Given the description of an element on the screen output the (x, y) to click on. 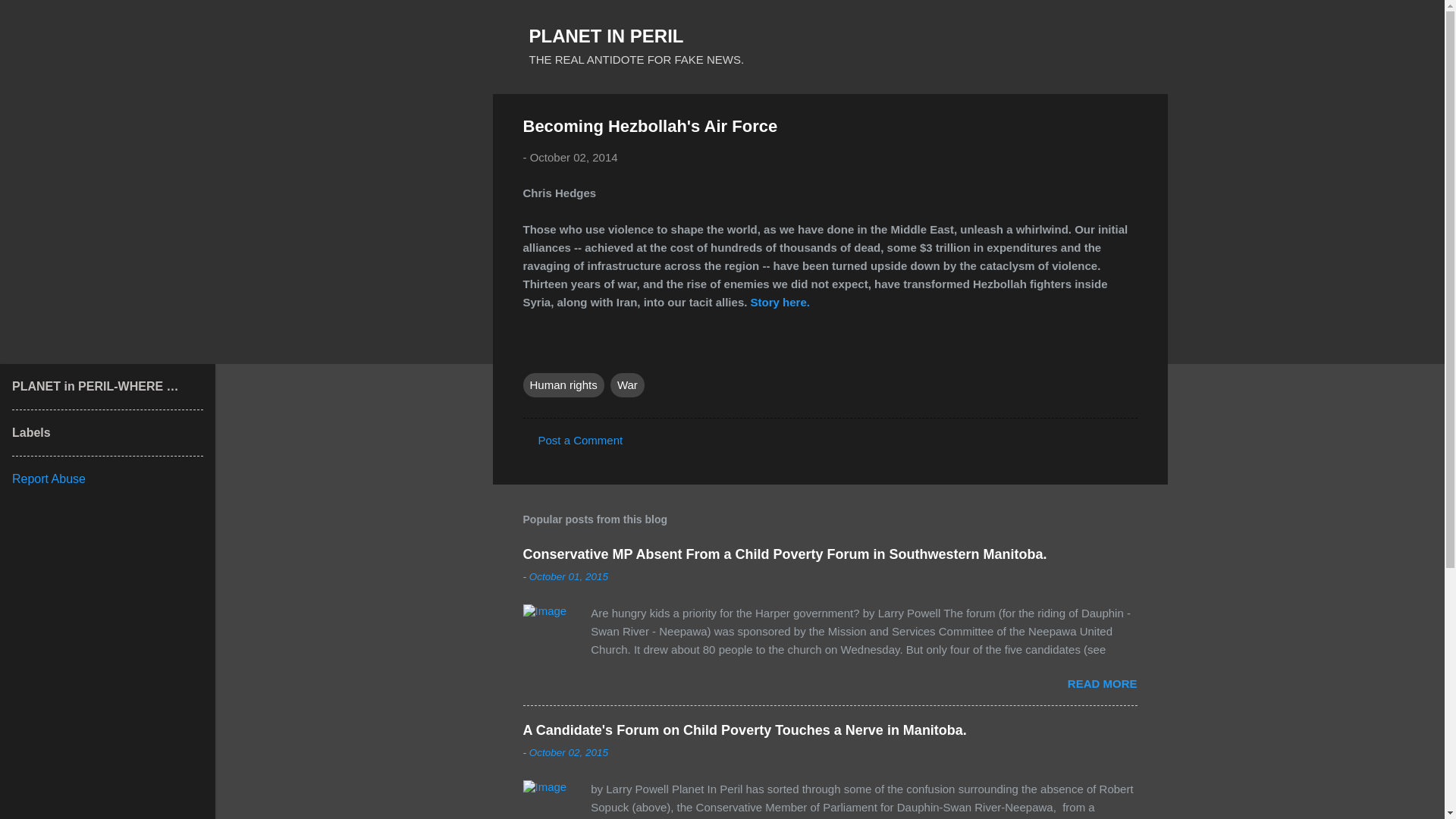
October 01, 2015 (568, 576)
READ MORE (1102, 683)
Email Post (531, 353)
Search (29, 18)
permanent link (568, 576)
October 02, 2015 (568, 752)
October 02, 2014 (573, 156)
permanent link (573, 156)
PLANET IN PERIL (606, 35)
permanent link (568, 752)
Post a Comment (580, 440)
Human rights (563, 385)
